Given the description of an element on the screen output the (x, y) to click on. 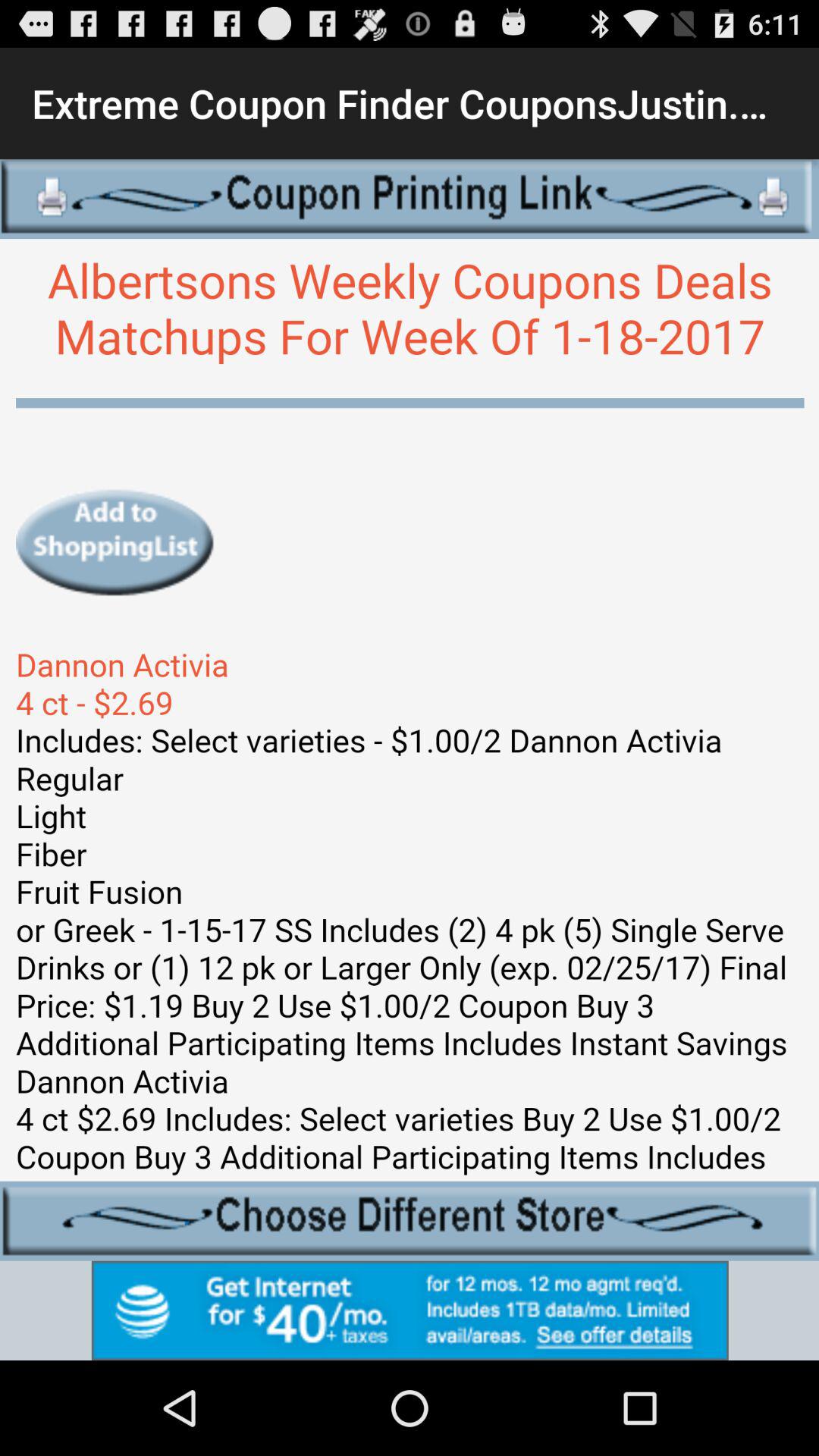
choose store (409, 1220)
